Given the description of an element on the screen output the (x, y) to click on. 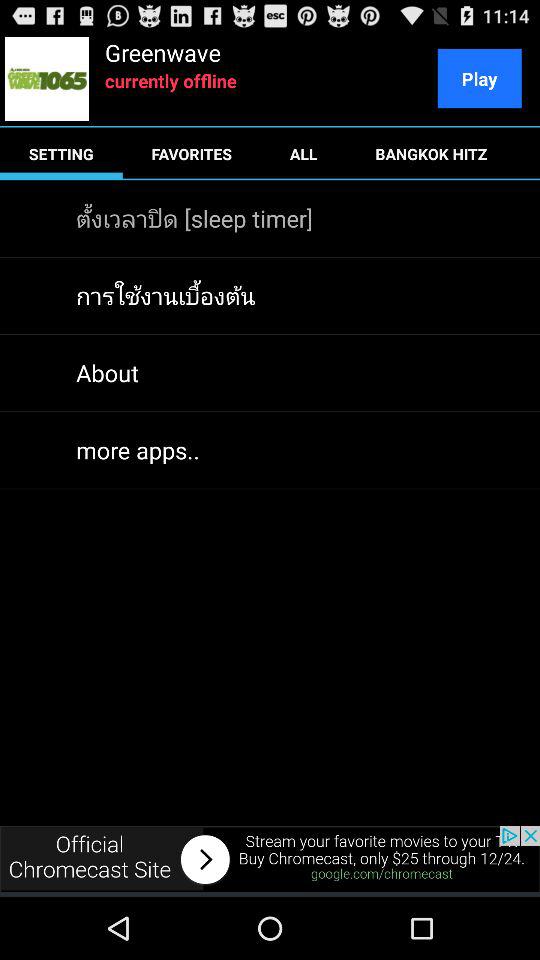
click the logo of greenwave (46, 78)
